Given the description of an element on the screen output the (x, y) to click on. 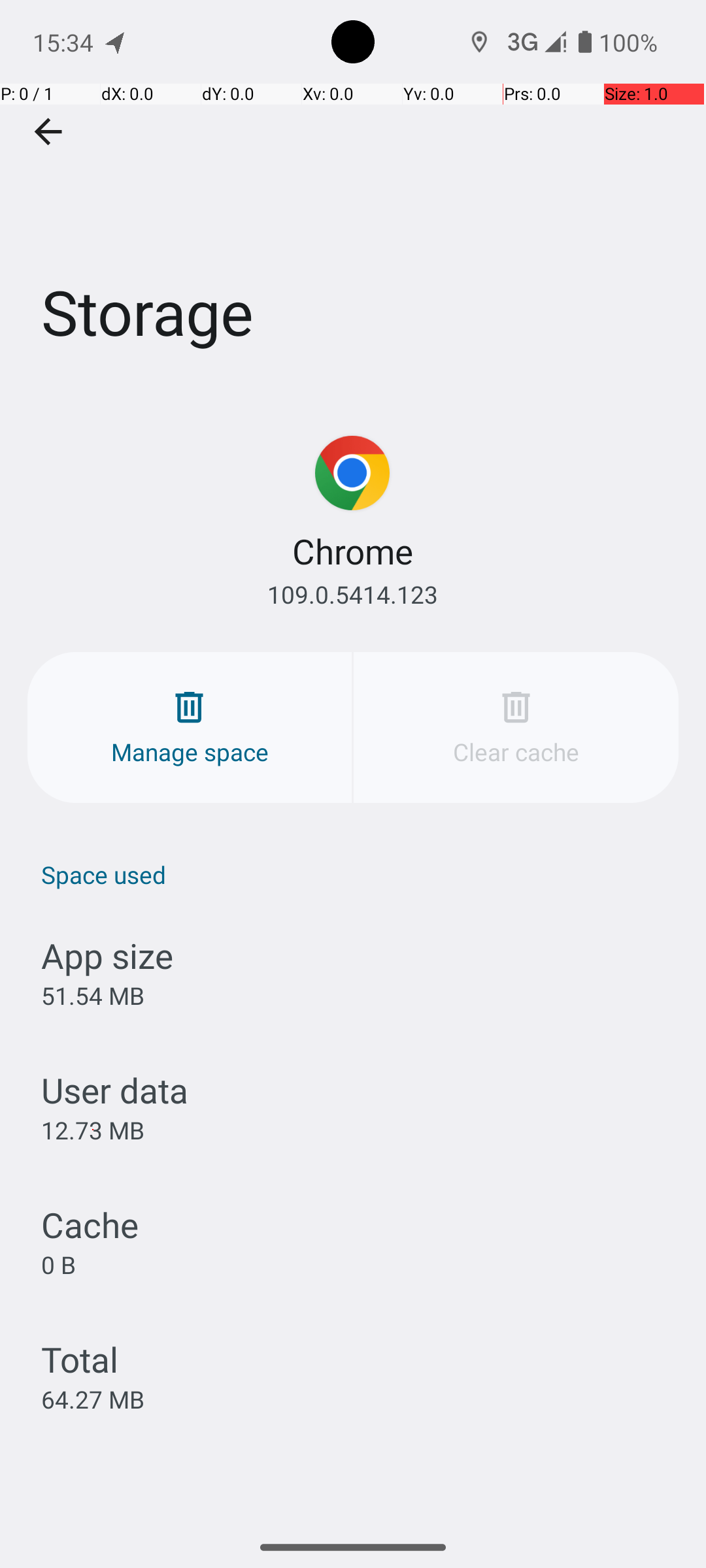
109.0.5414.123 Element type: android.widget.TextView (352, 593)
Manage space Element type: android.widget.Button (189, 727)
Clear cache Element type: android.widget.Button (515, 727)
Space used Element type: android.widget.TextView (359, 874)
App size Element type: android.widget.TextView (107, 955)
51.54 MB Element type: android.widget.TextView (92, 995)
User data Element type: android.widget.TextView (114, 1089)
12.73 MB Element type: android.widget.TextView (92, 1129)
Cache Element type: android.widget.TextView (89, 1224)
Total Element type: android.widget.TextView (79, 1359)
64.27 MB Element type: android.widget.TextView (92, 1398)
